Given the description of an element on the screen output the (x, y) to click on. 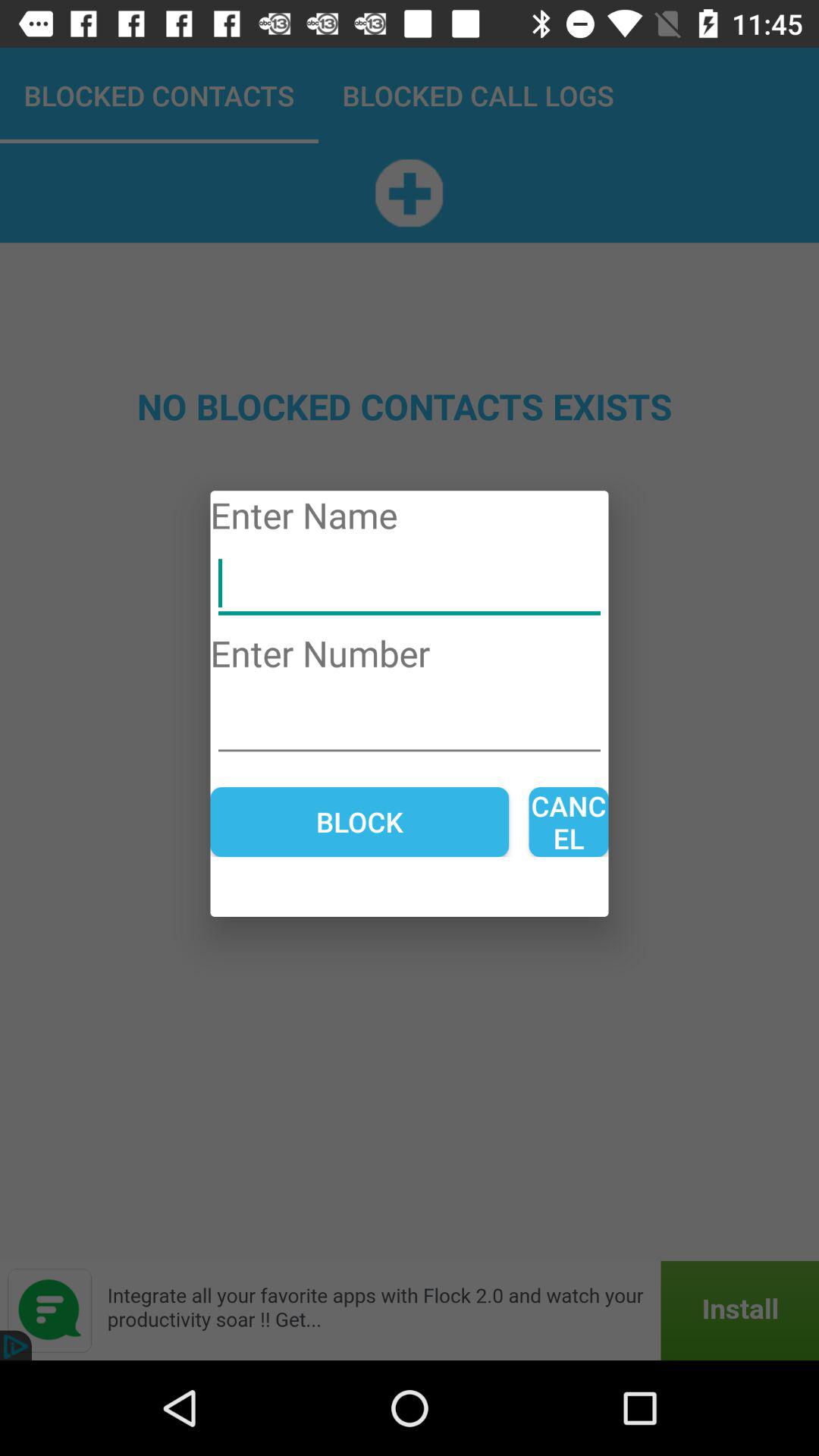
turn on item next to the block (568, 822)
